Given the description of an element on the screen output the (x, y) to click on. 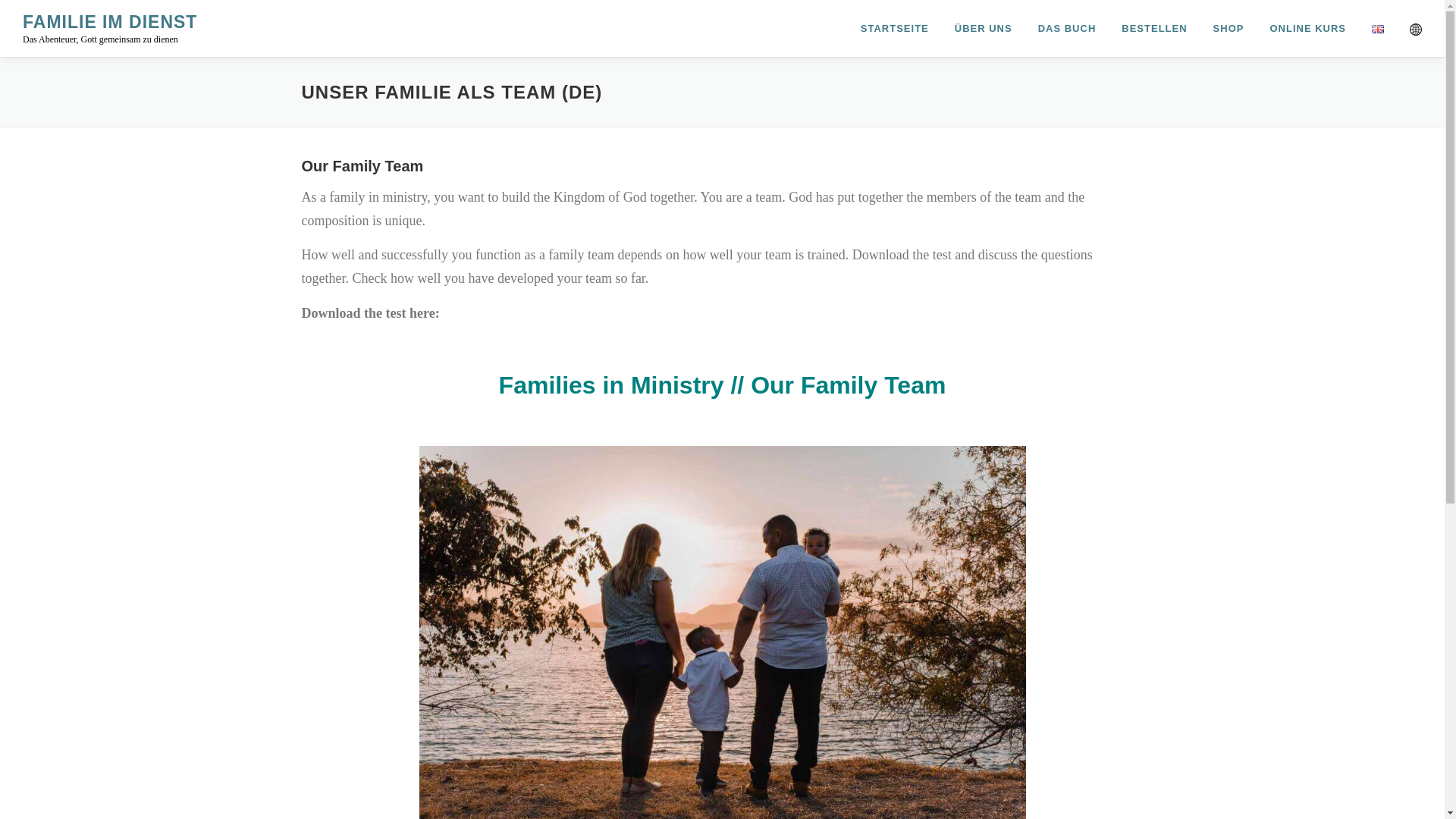
BESTELLEN (1153, 28)
ONLINE KURS (1307, 28)
DAS BUCH (1067, 28)
STARTSEITE (894, 28)
FAMILIE IM DIENST (109, 21)
Page 166 (721, 254)
SHOP (1228, 28)
